Given the description of an element on the screen output the (x, y) to click on. 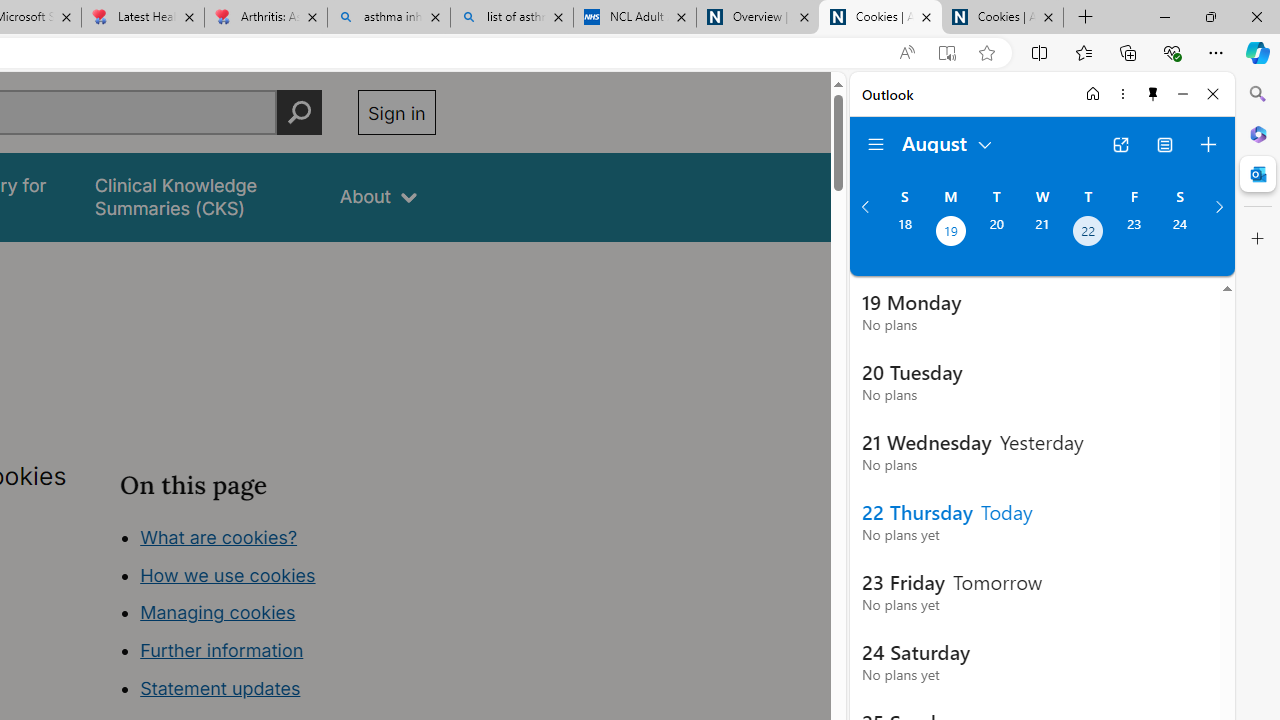
false (198, 196)
View Switcher. Current view is Agenda view (1165, 144)
asthma inhaler - Search (388, 17)
Cookies | About | NICE (1002, 17)
Tuesday, August 20, 2024.  (996, 233)
Further information (221, 650)
